Given the description of an element on the screen output the (x, y) to click on. 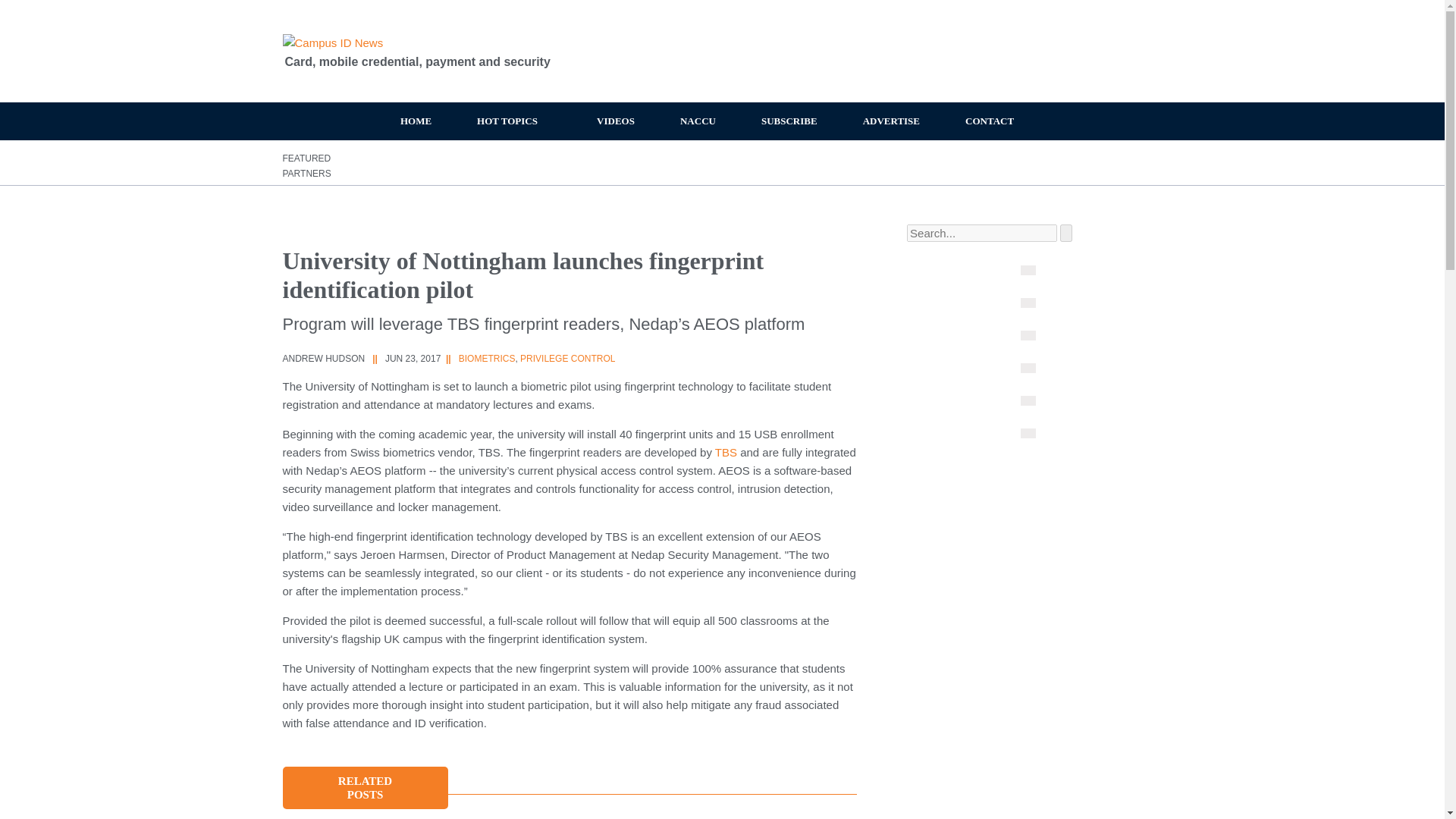
PRIVILEGE CONTROL (566, 357)
TBS (725, 451)
VIDEOS (615, 121)
HOME (415, 121)
HOT TOPICS (513, 121)
CONTACT (989, 121)
NACCU (698, 121)
SUBSCRIBE (789, 121)
ADVERTISE (891, 121)
BIOMETRICS (486, 357)
